Given the description of an element on the screen output the (x, y) to click on. 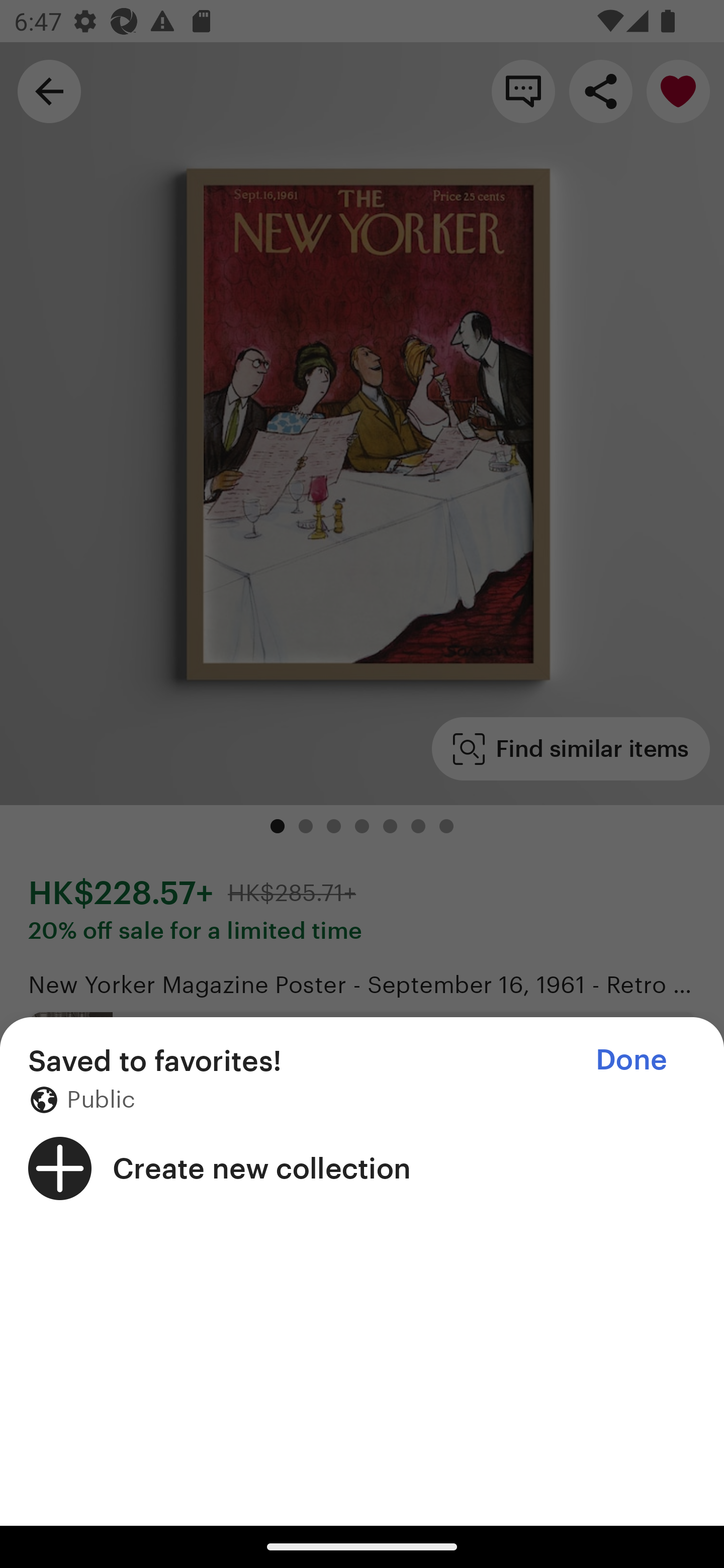
Done (630, 1059)
Create new collection (361, 1167)
